Given the description of an element on the screen output the (x, y) to click on. 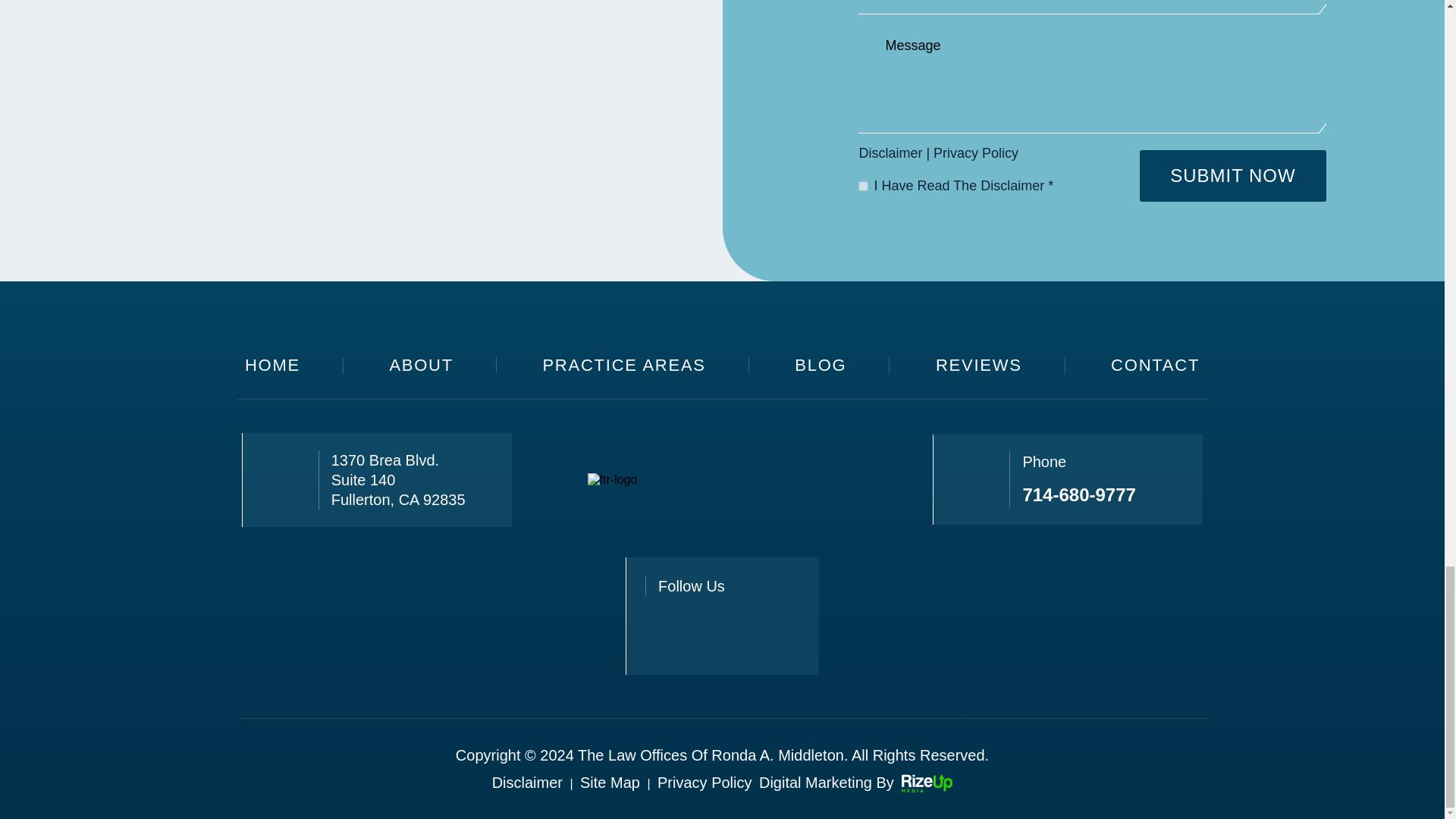
Submit Now (1232, 175)
